Given the description of an element on the screen output the (x, y) to click on. 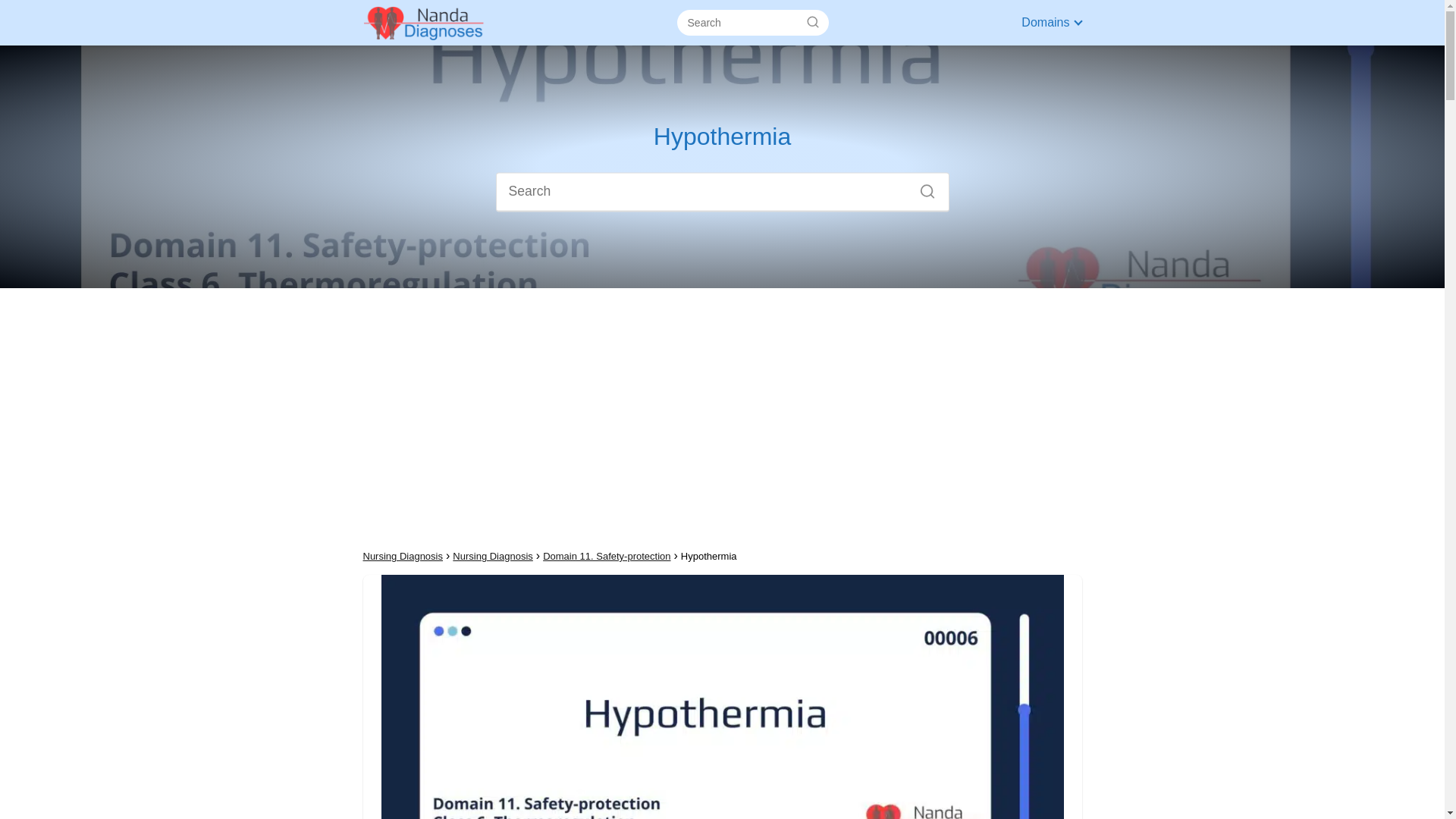
Domains (1048, 21)
